Given the description of an element on the screen output the (x, y) to click on. 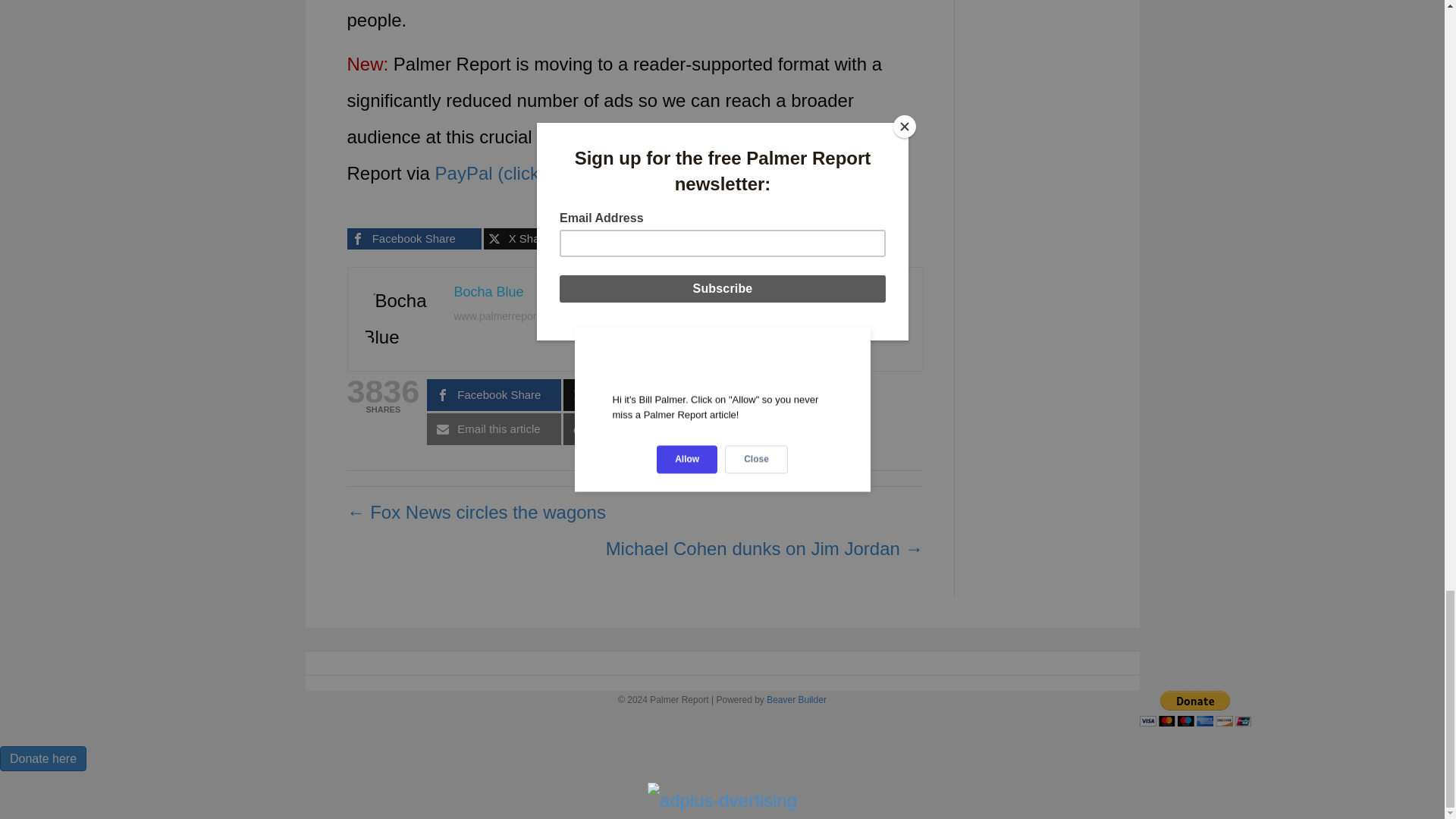
Reddit Share (687, 238)
X Share (550, 238)
WordPress Page Builder Plugin (797, 699)
Facebook Share (414, 238)
PayPal - The safer, easier way to pay online! (1194, 708)
